Given the description of an element on the screen output the (x, y) to click on. 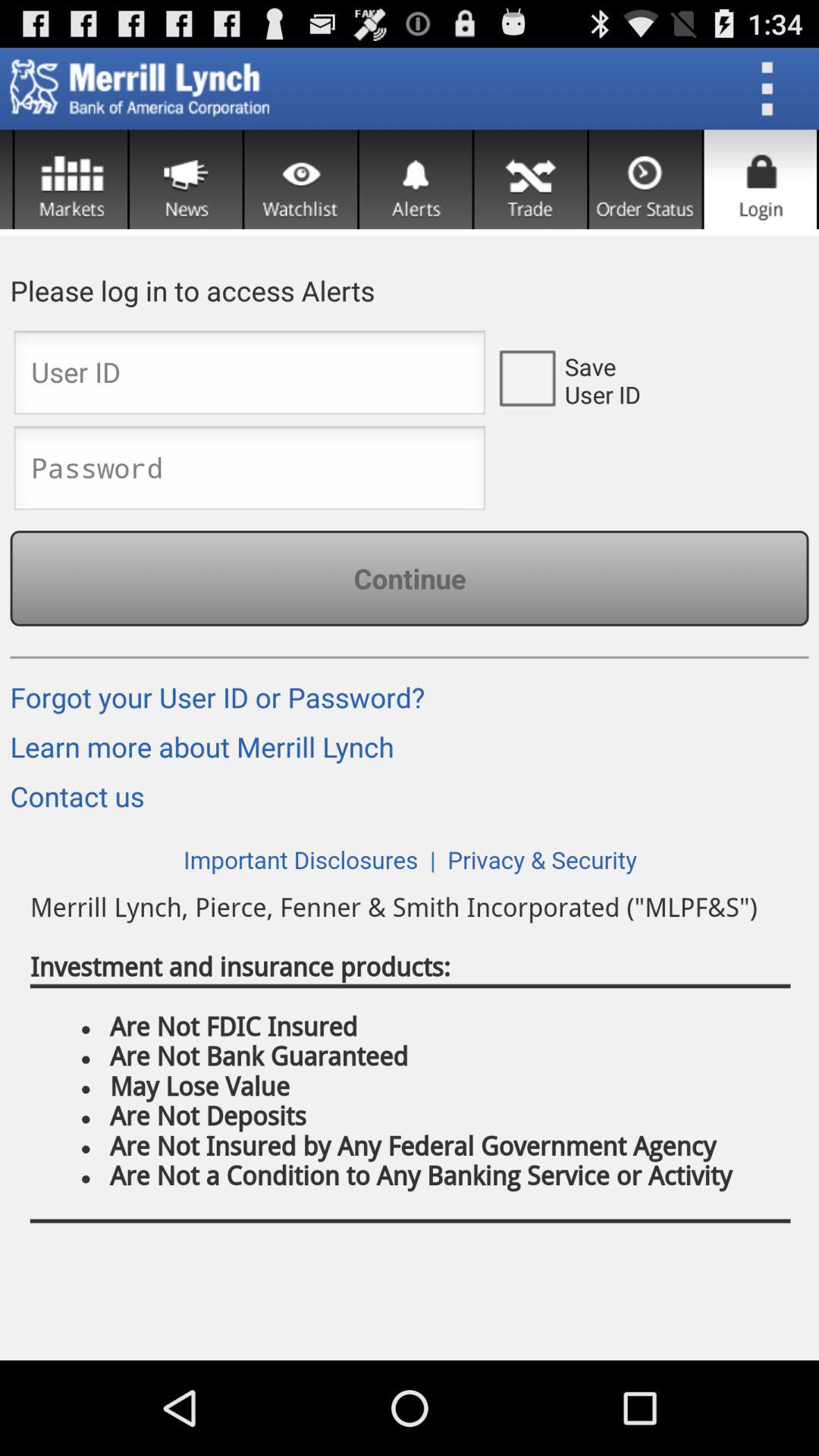
markets icon (70, 179)
